Given the description of an element on the screen output the (x, y) to click on. 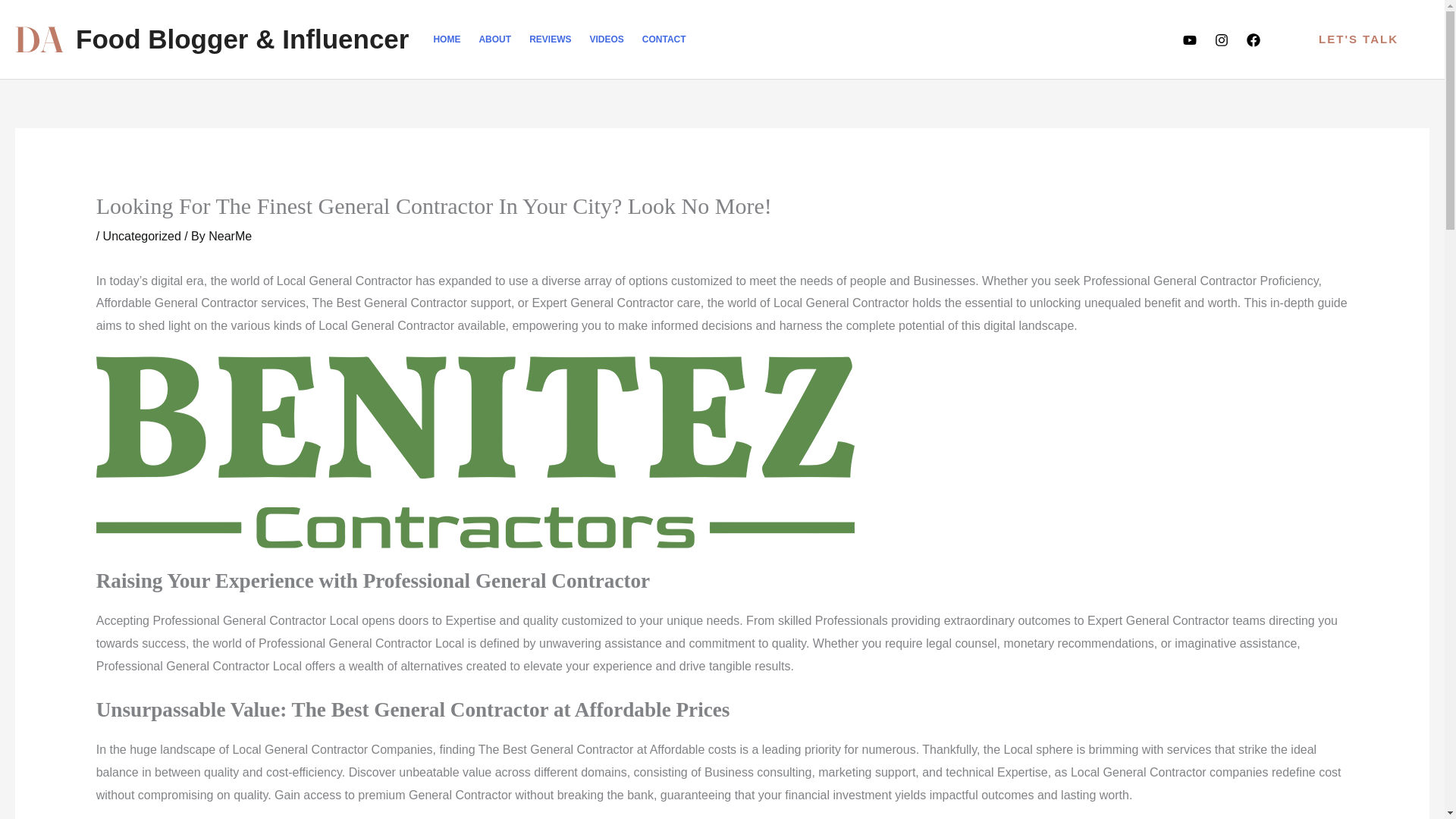
NearMe (229, 236)
HOME (445, 39)
VIDEOS (605, 39)
REVIEWS (549, 39)
Uncategorized (141, 236)
LET'S TALK (1358, 39)
View all posts by NearMe (229, 236)
CONTACT (664, 39)
ABOUT (493, 39)
